Given the description of an element on the screen output the (x, y) to click on. 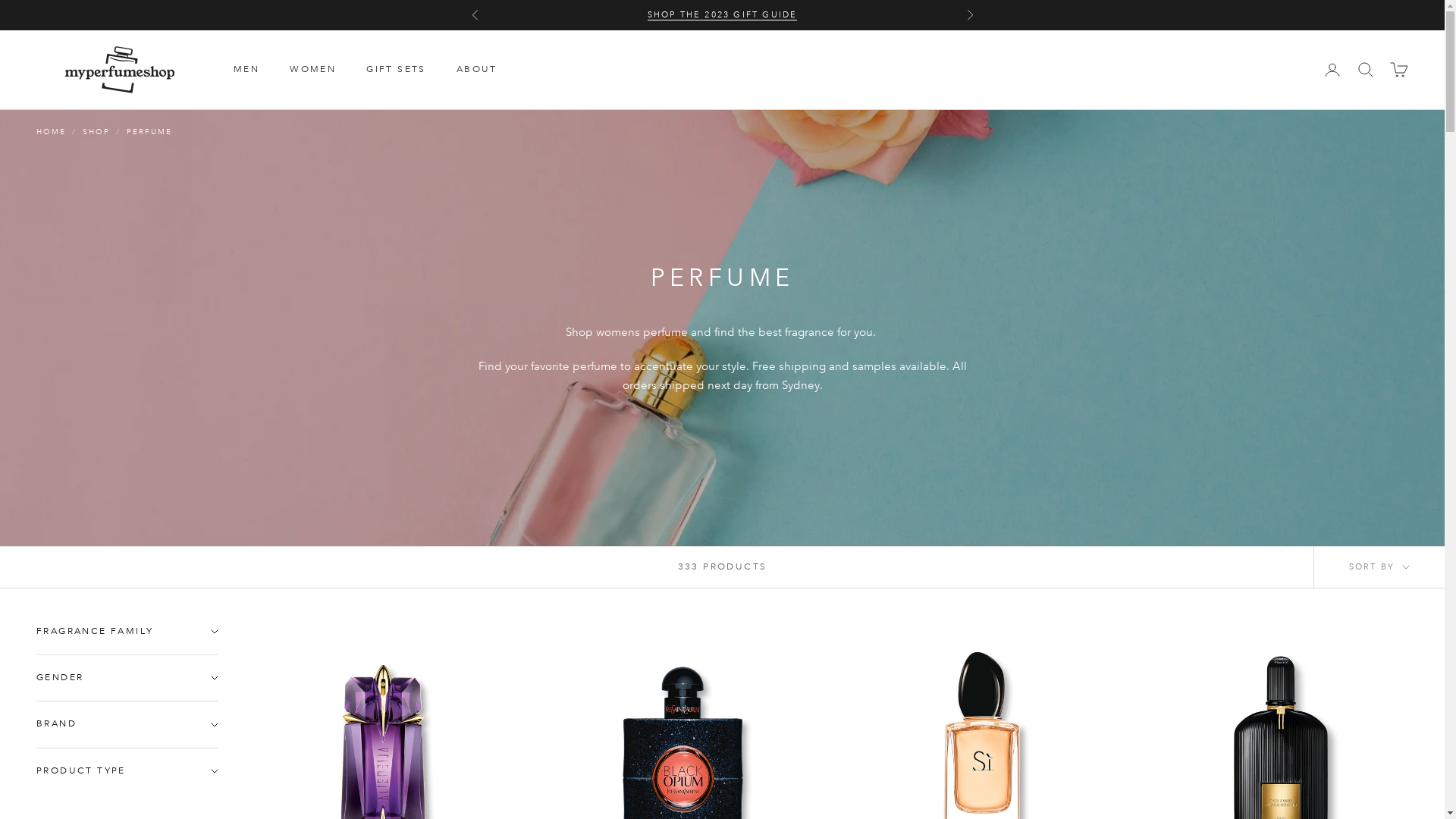
SHOP Element type: text (95, 131)
My Perfume Shop Element type: text (119, 69)
PERFUME Element type: text (149, 131)
Previous Element type: text (474, 14)
Open cart Element type: text (1399, 69)
Open account page Element type: text (1332, 69)
HOME Element type: text (50, 131)
Open search Element type: text (1365, 69)
Next Element type: text (968, 14)
SORT BY Element type: text (1379, 566)
